Given the description of an element on the screen output the (x, y) to click on. 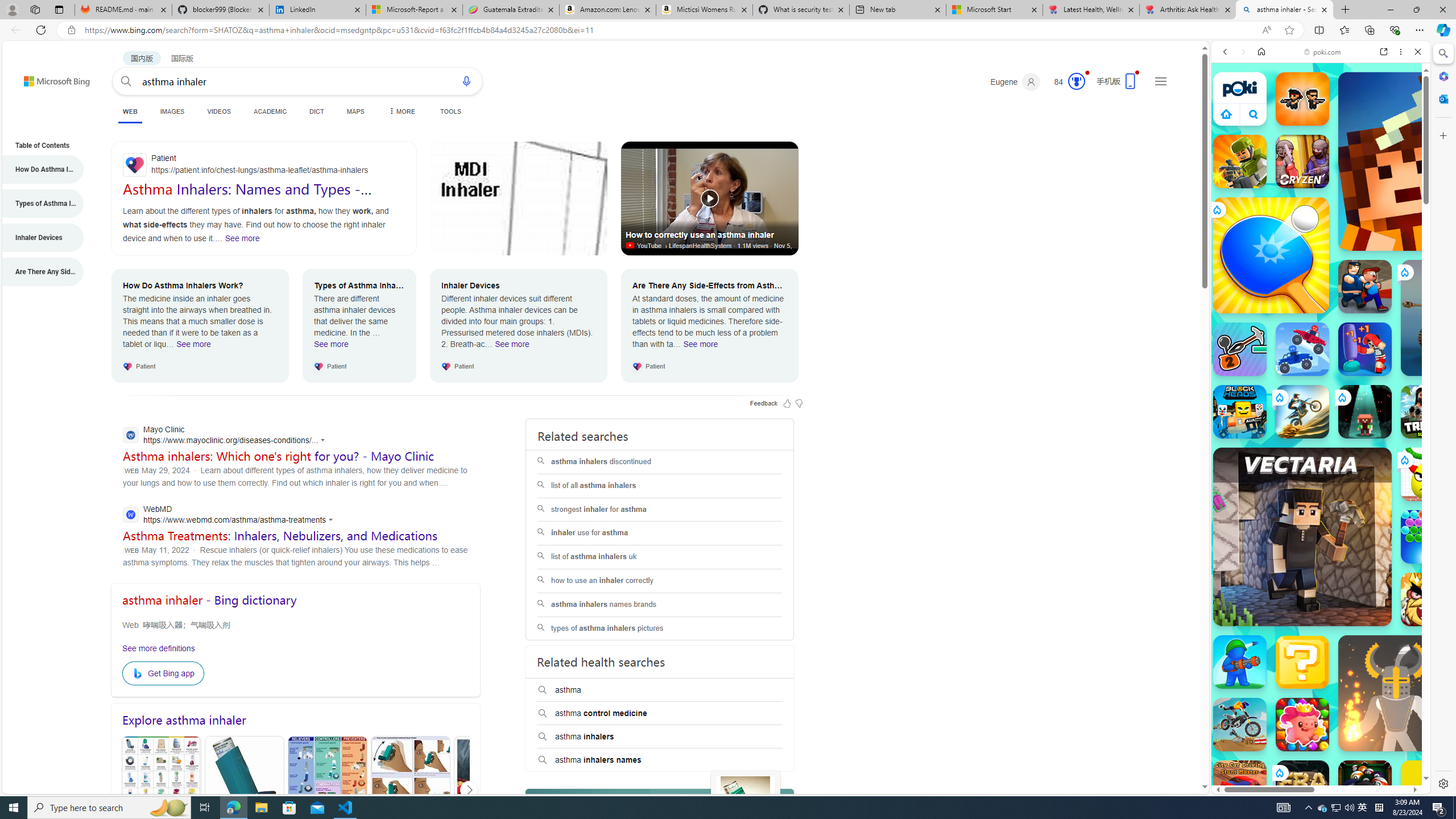
inhaler use for asthma (659, 533)
TOOLS (450, 111)
